Given the description of an element on the screen output the (x, y) to click on. 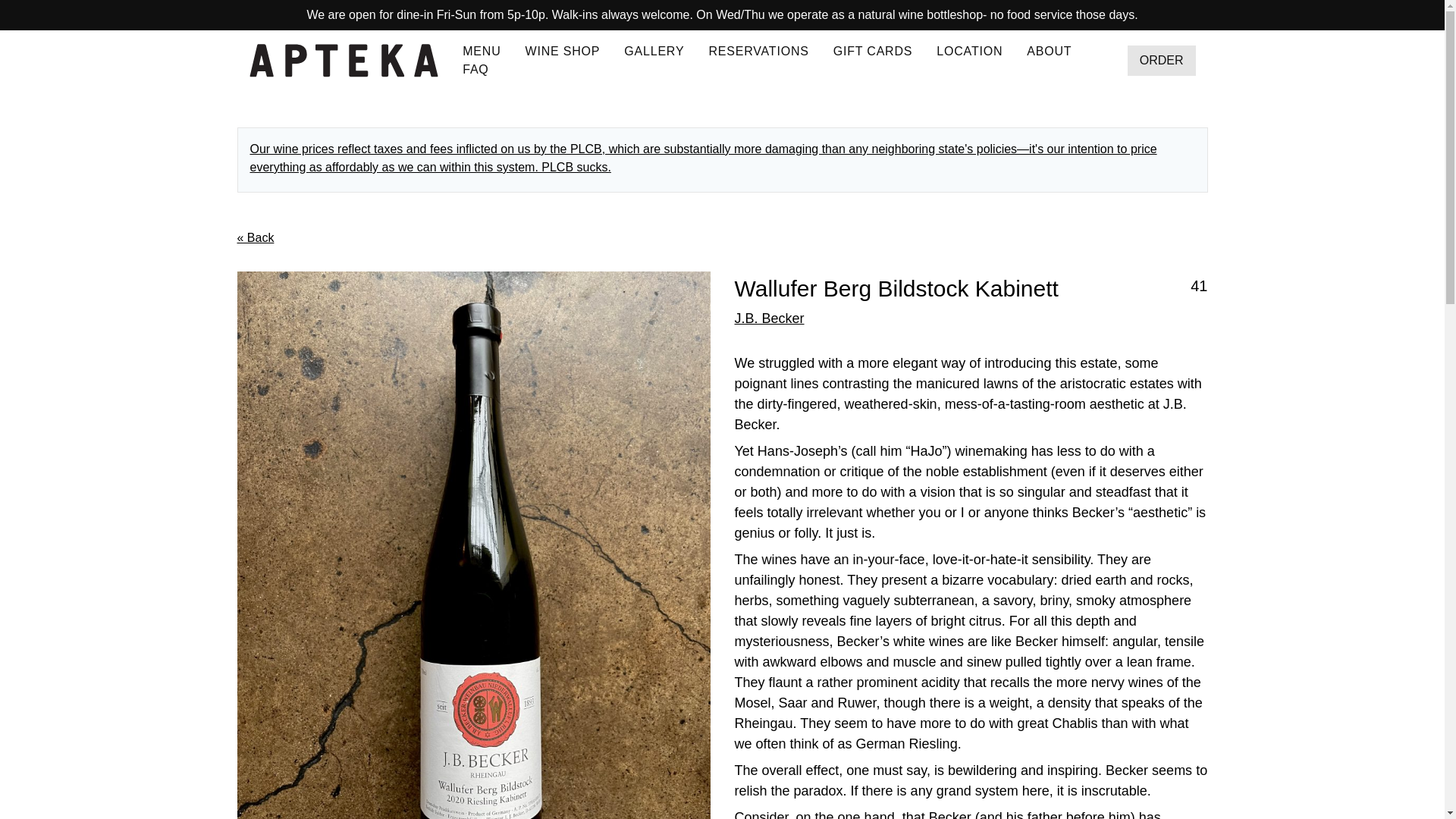
ORDER (1160, 60)
J.B. Becker (768, 318)
ABOUT (1048, 51)
WINE SHOP (562, 51)
RESERVATIONS (757, 51)
FAQ (475, 69)
LOCATION (969, 51)
MENU (481, 51)
GALLERY (654, 51)
GIFT CARDS (872, 51)
